Given the description of an element on the screen output the (x, y) to click on. 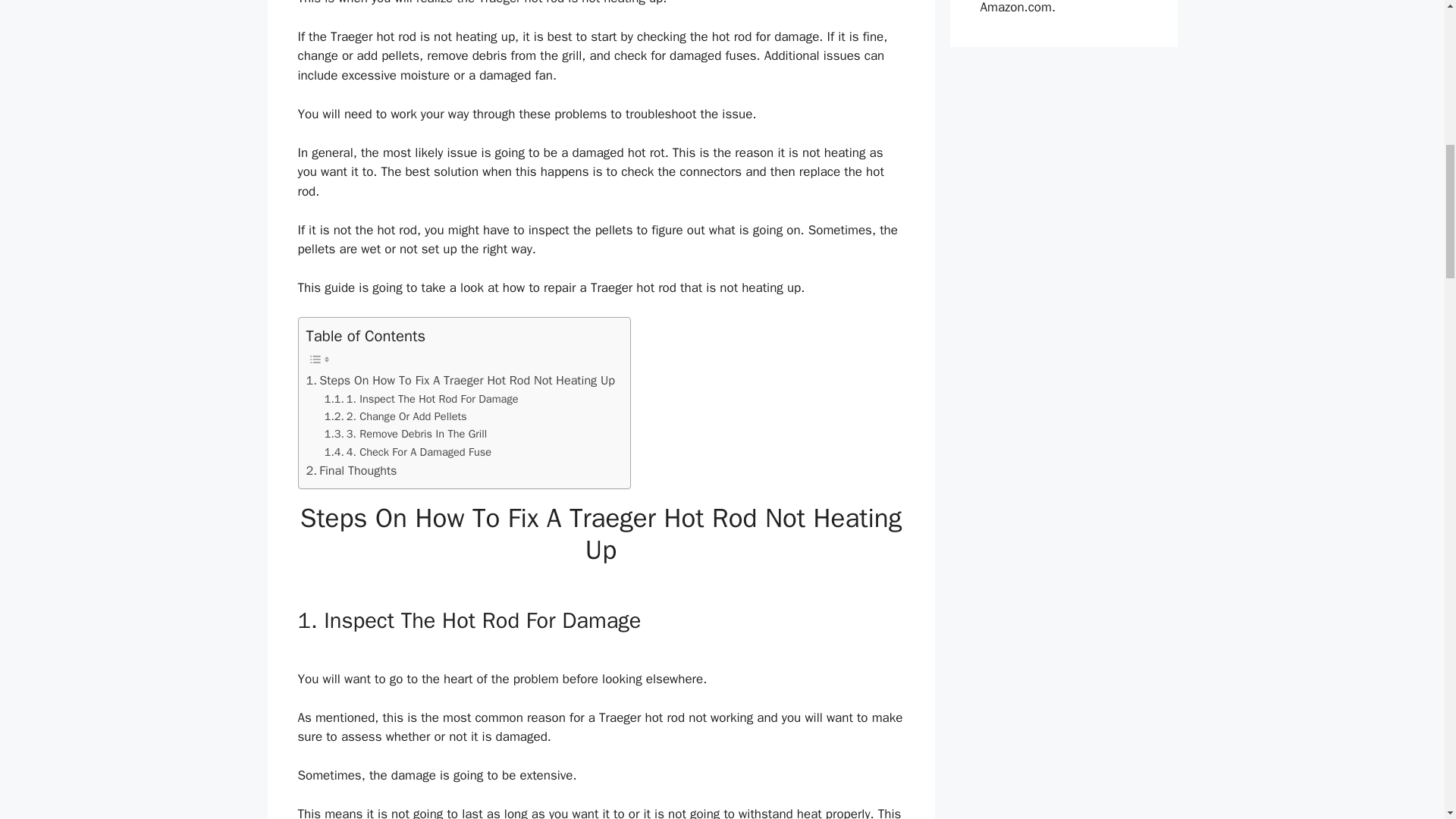
4. Check For A Damaged Fuse (408, 452)
Final Thoughts (351, 470)
1. Inspect The Hot Rod For Damage (421, 398)
2. Change Or Add Pellets (395, 416)
1. Inspect The Hot Rod For Damage (421, 398)
Final Thoughts (351, 470)
3. Remove Debris In The Grill (405, 434)
Steps On How To Fix A Traeger Hot Rod Not Heating Up (460, 380)
Steps On How To Fix A Traeger Hot Rod Not Heating Up (460, 380)
3. Remove Debris In The Grill (405, 434)
4. Check For A Damaged Fuse (408, 452)
2. Change Or Add Pellets (395, 416)
